Given the description of an element on the screen output the (x, y) to click on. 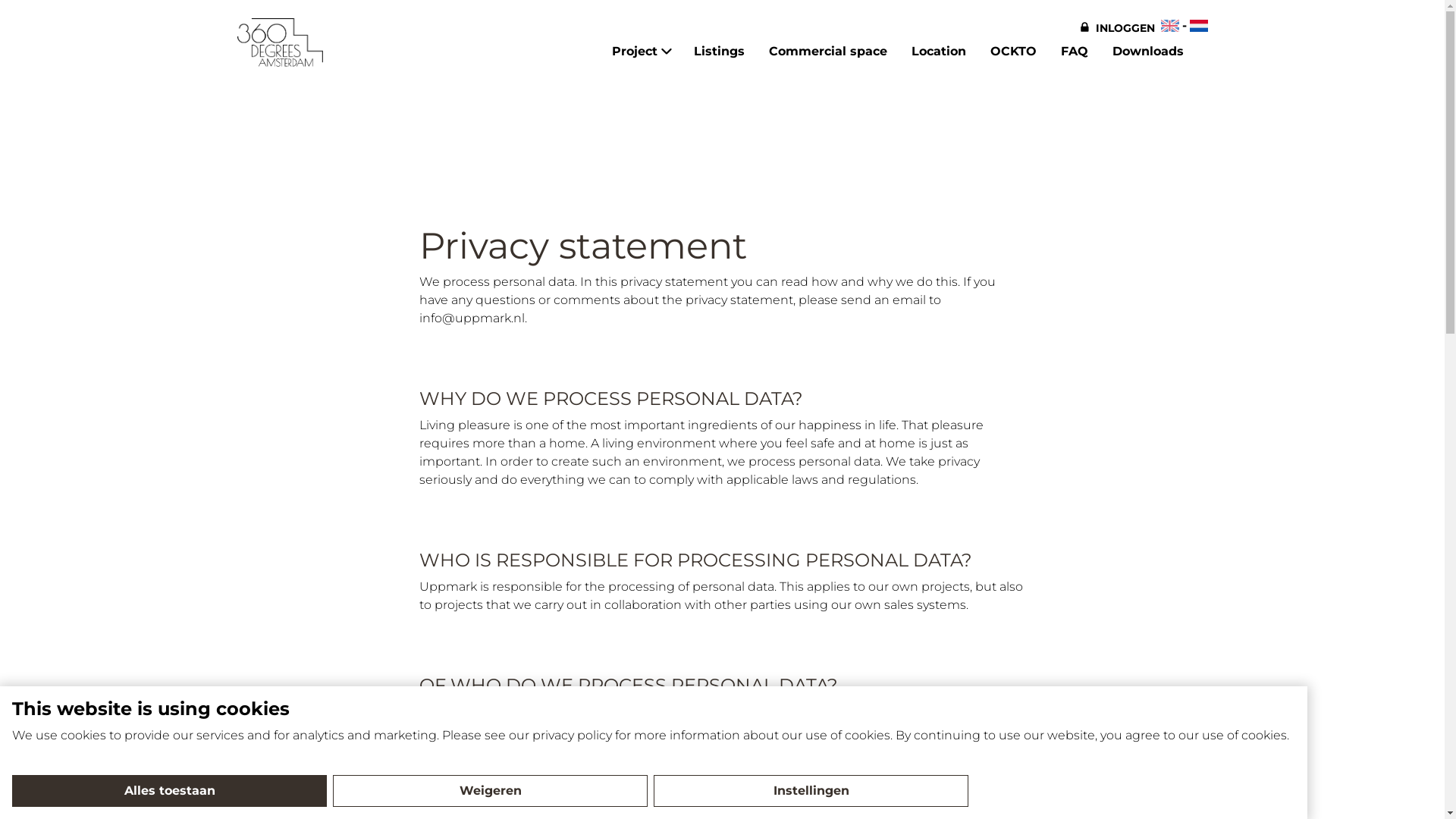
INLOGGEN Element type: text (1116, 27)
Instellingen Element type: text (810, 790)
FAQ Element type: text (1073, 50)
Commercial space Element type: text (827, 50)
Alles toestaan Element type: text (169, 790)
Listings Element type: text (718, 50)
OCKTO Element type: text (1013, 50)
Weigeren Element type: text (489, 790)
Downloads Element type: text (1147, 50)
Location Element type: text (938, 50)
